Given the description of an element on the screen output the (x, y) to click on. 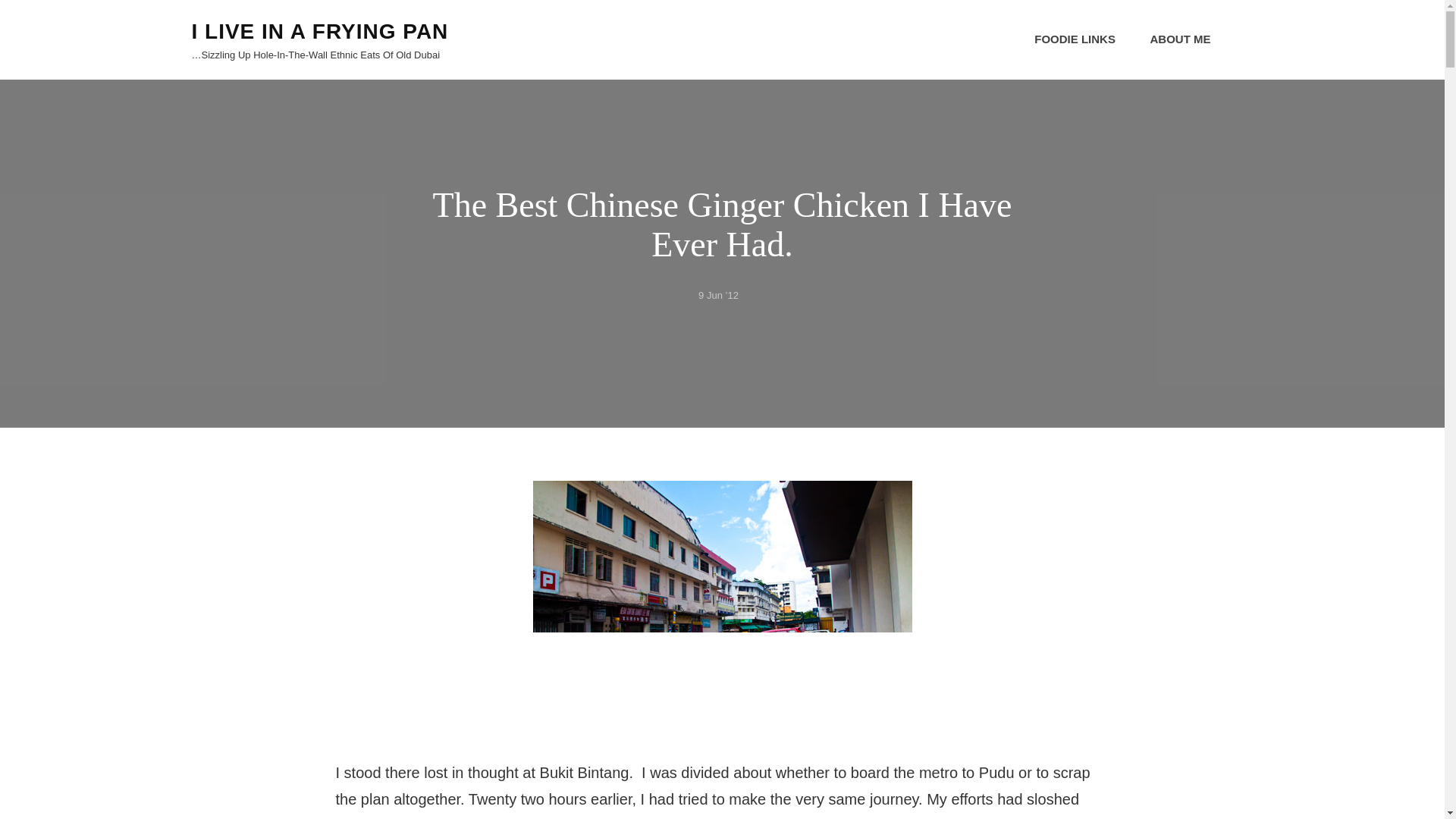
ABOUT ME (1179, 39)
FOODIE LINKS (1075, 39)
I LIVE IN A FRYING PAN (319, 31)
Pudu Kuala Lumpur (721, 606)
